Given the description of an element on the screen output the (x, y) to click on. 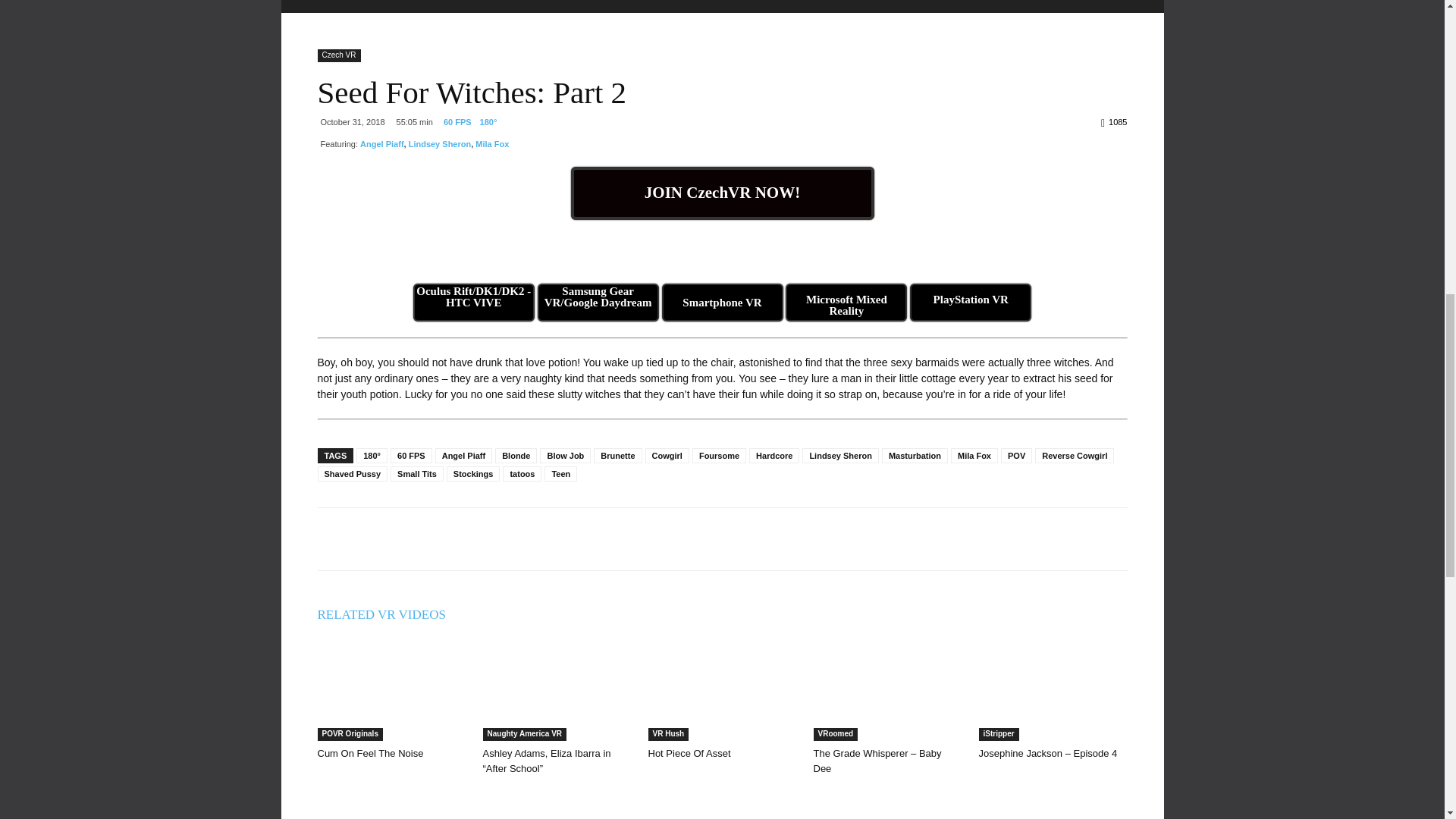
GET THE FULL VIDEO NOW (721, 193)
Hot Piece Of Asset (721, 689)
Cum On Feel The Noise (391, 689)
Cum On Feel The Noise (370, 753)
Hot Piece Of Asset (688, 753)
